Given the description of an element on the screen output the (x, y) to click on. 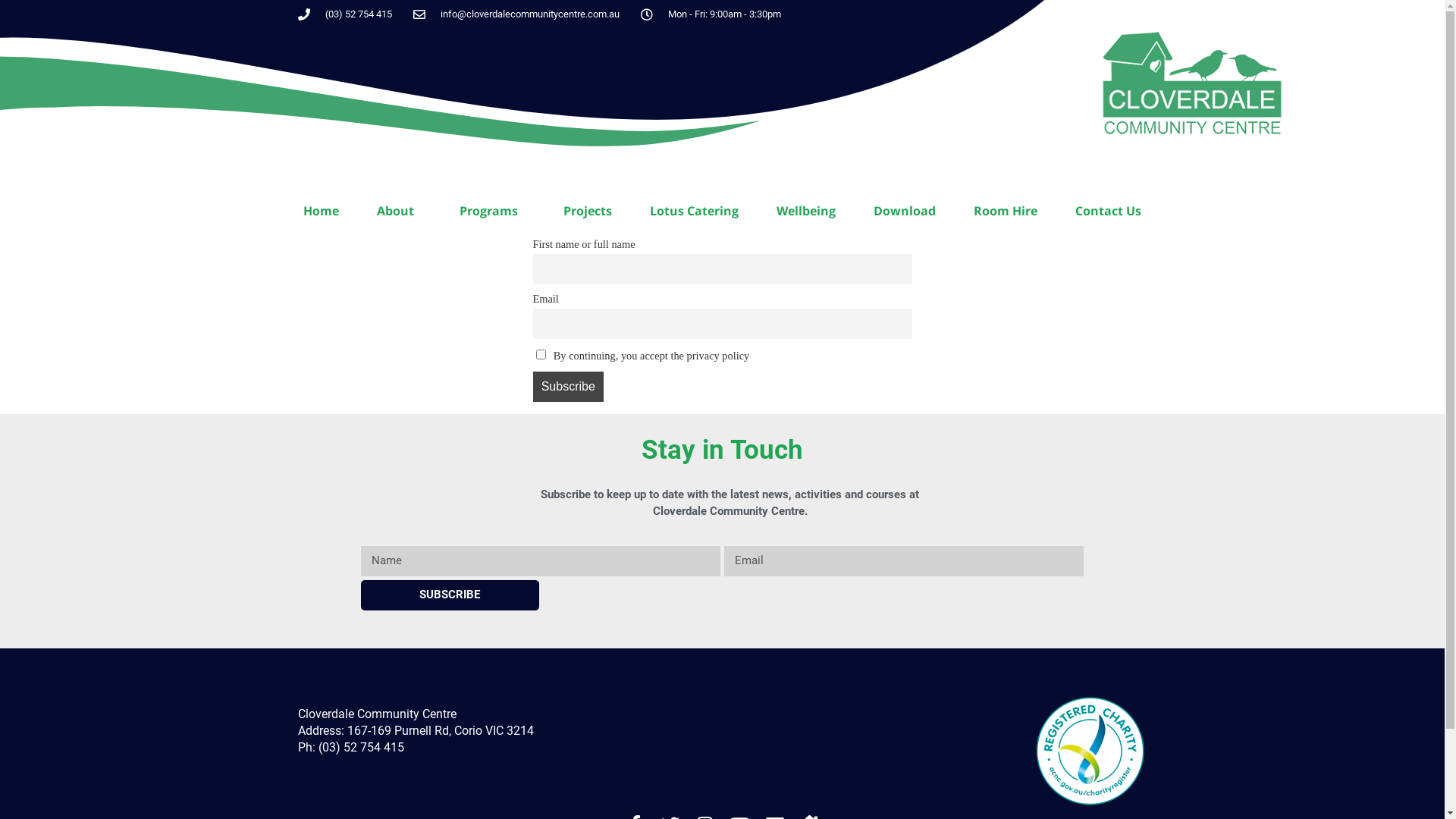
About Element type: text (398, 210)
Lotus Catering Element type: text (693, 210)
Programs Element type: text (492, 210)
Subscribe Element type: text (567, 386)
SUBSCRIBE Element type: text (449, 595)
Contact Us Element type: text (1108, 210)
Download Element type: text (904, 210)
Projects Element type: text (587, 210)
Home Element type: text (320, 210)
Wellbeing Element type: text (805, 210)
Room Hire Element type: text (1005, 210)
